Given the description of an element on the screen output the (x, y) to click on. 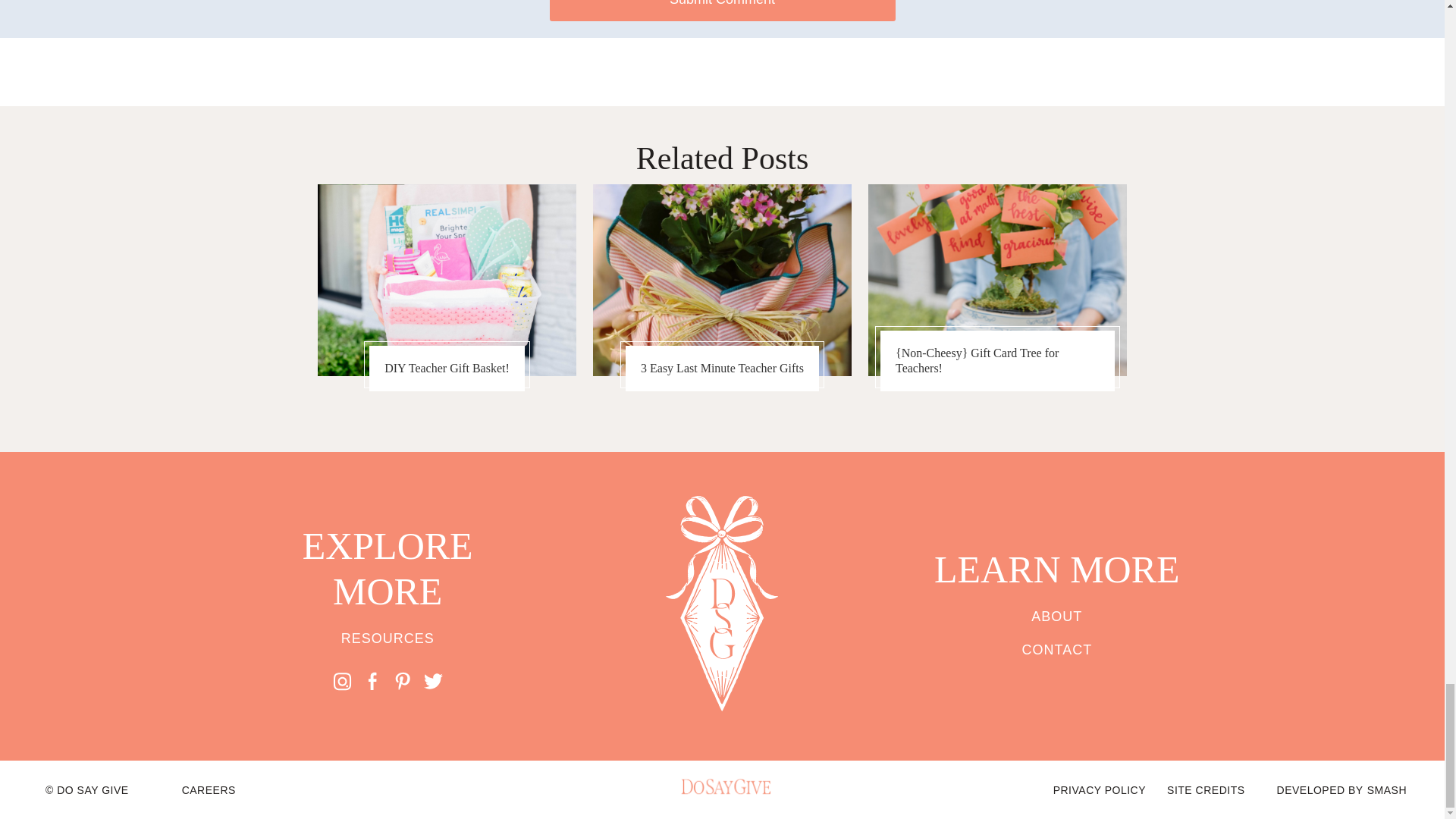
Submit Comment (721, 10)
